Given the description of an element on the screen output the (x, y) to click on. 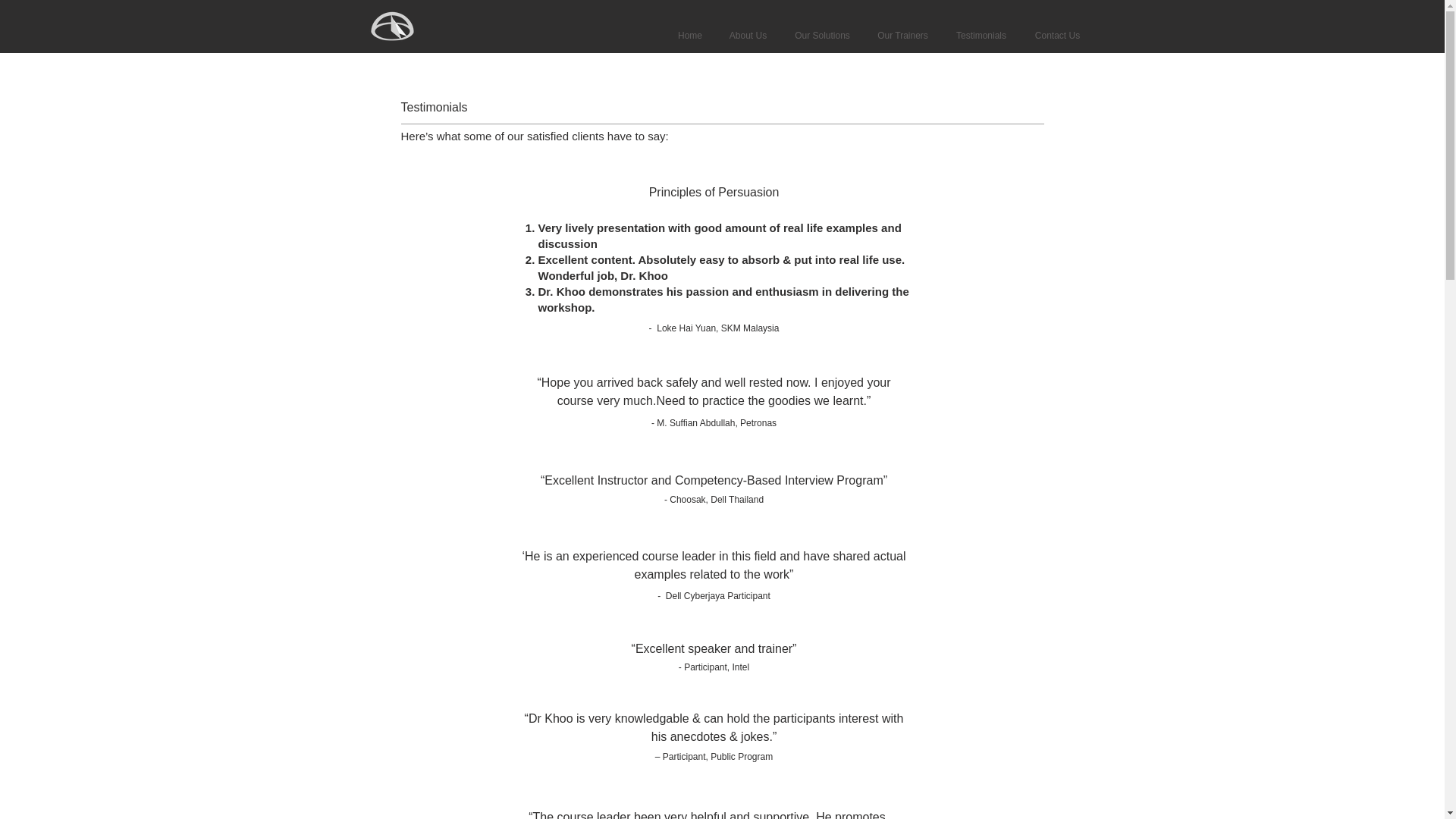
Testimonials (982, 35)
Our Solutions (822, 35)
Contact Us (1056, 35)
Our Trainers (903, 35)
Home (688, 35)
About Us (748, 35)
